Given the description of an element on the screen output the (x, y) to click on. 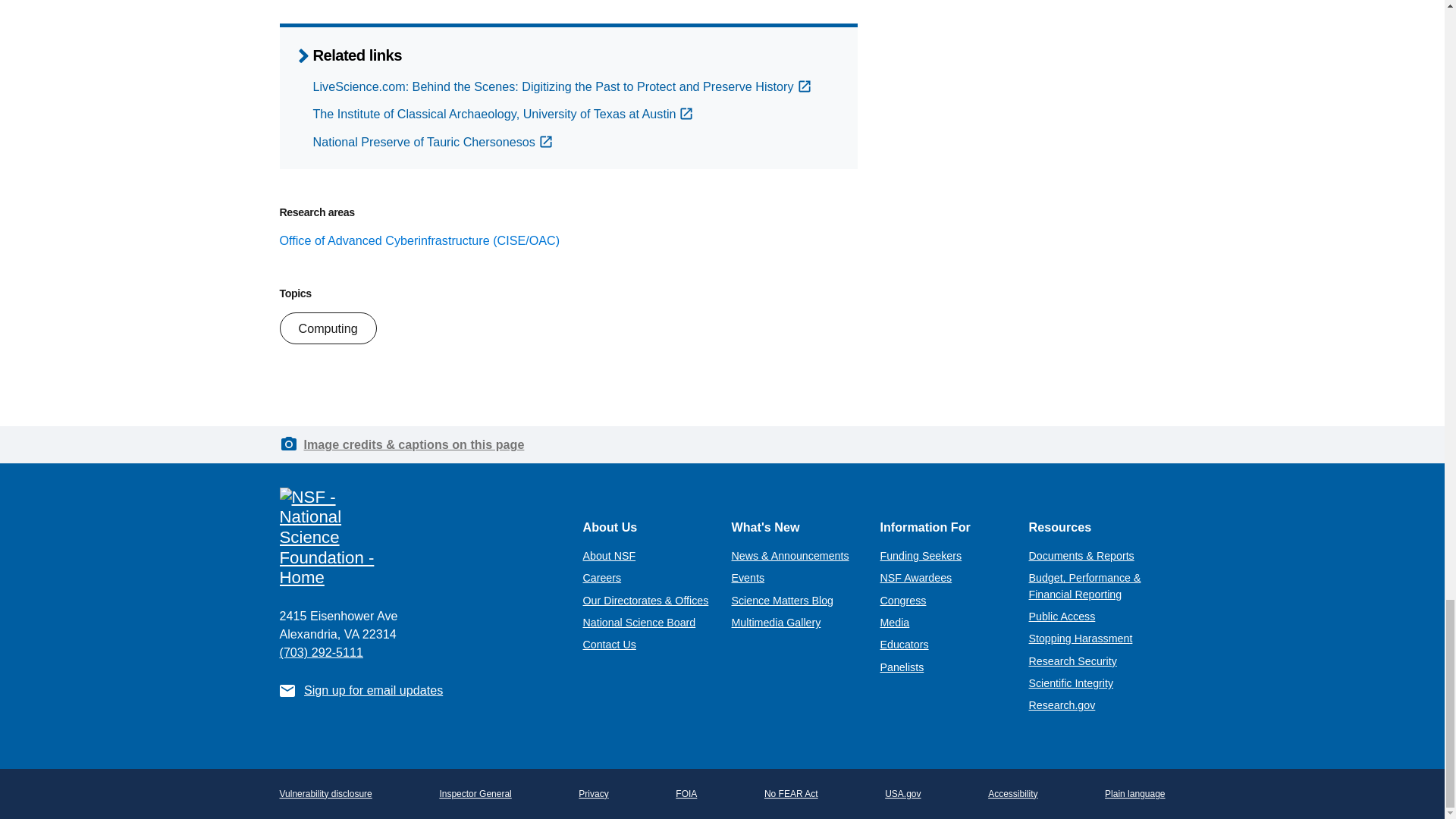
NSF - National Science Foundation - Home (418, 537)
National Preserve of Tauric Chersonesos (433, 141)
Sign up for email updates (373, 689)
